Given the description of an element on the screen output the (x, y) to click on. 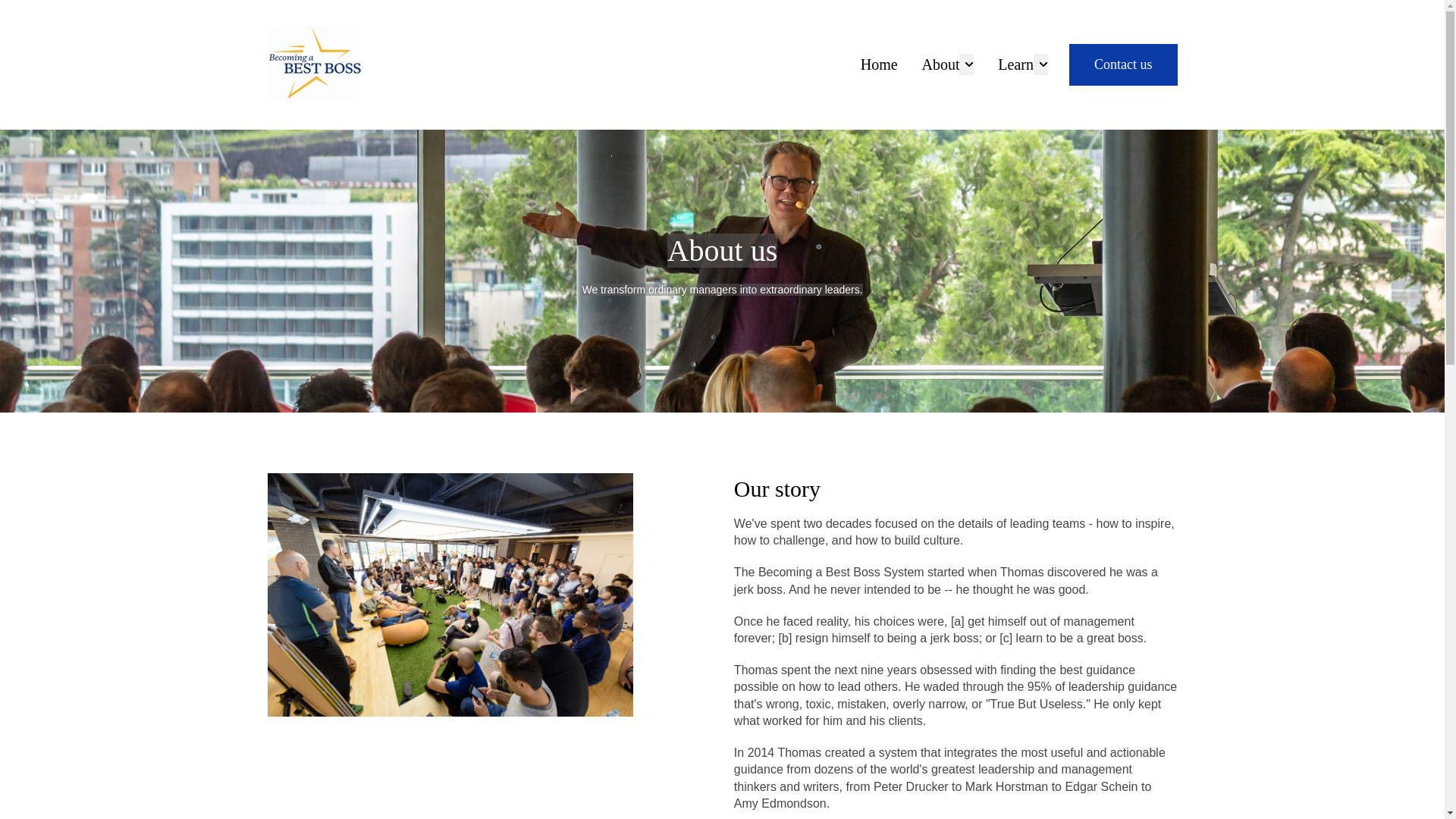
Home (879, 64)
Contact us (1122, 64)
thomas seoul whole room (448, 594)
Show submenu for About (966, 64)
Learn (1015, 64)
About (940, 64)
Show submenu for Learn (1040, 64)
